Given the description of an element on the screen output the (x, y) to click on. 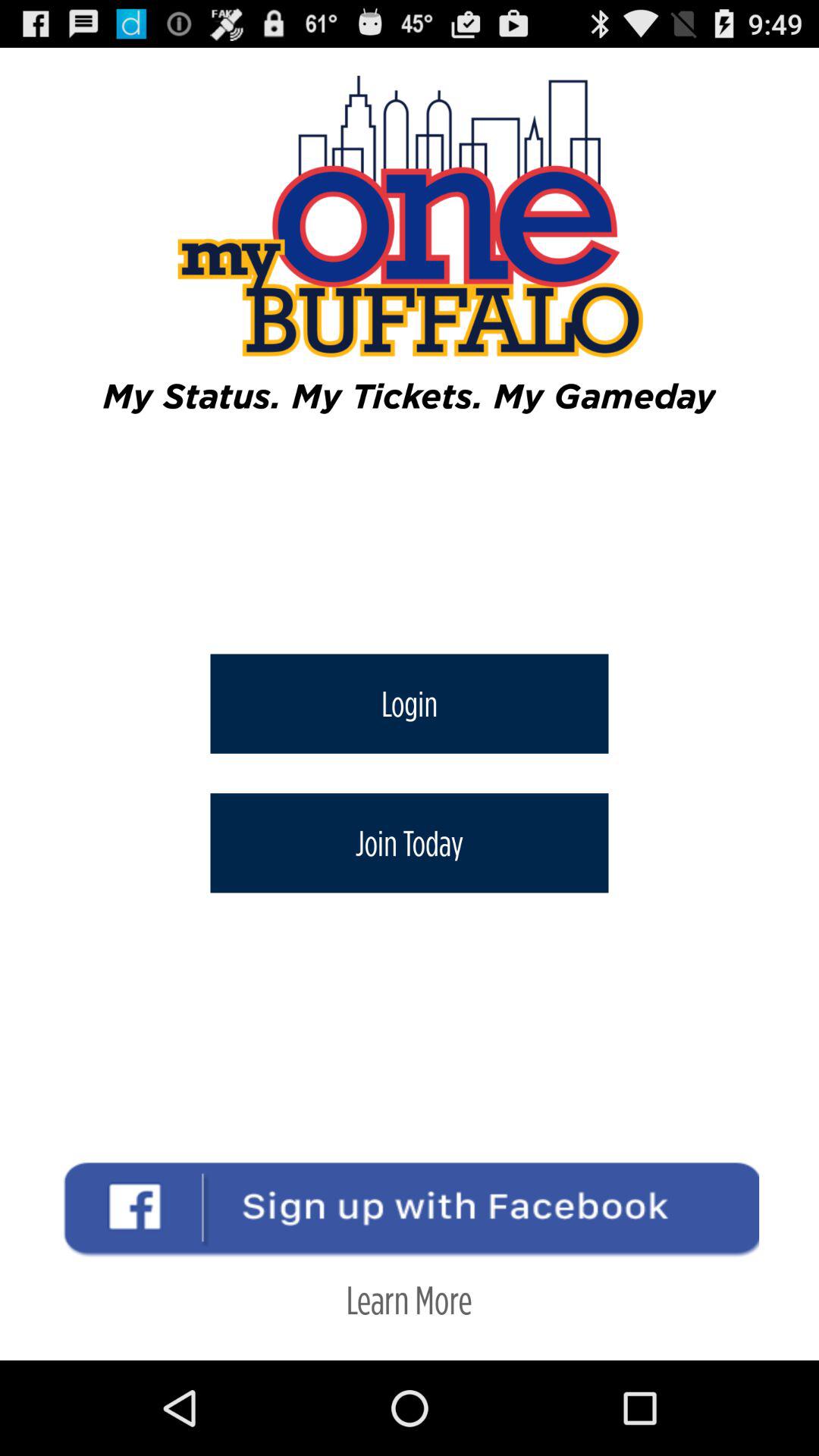
press icon above join today icon (409, 703)
